Given the description of an element on the screen output the (x, y) to click on. 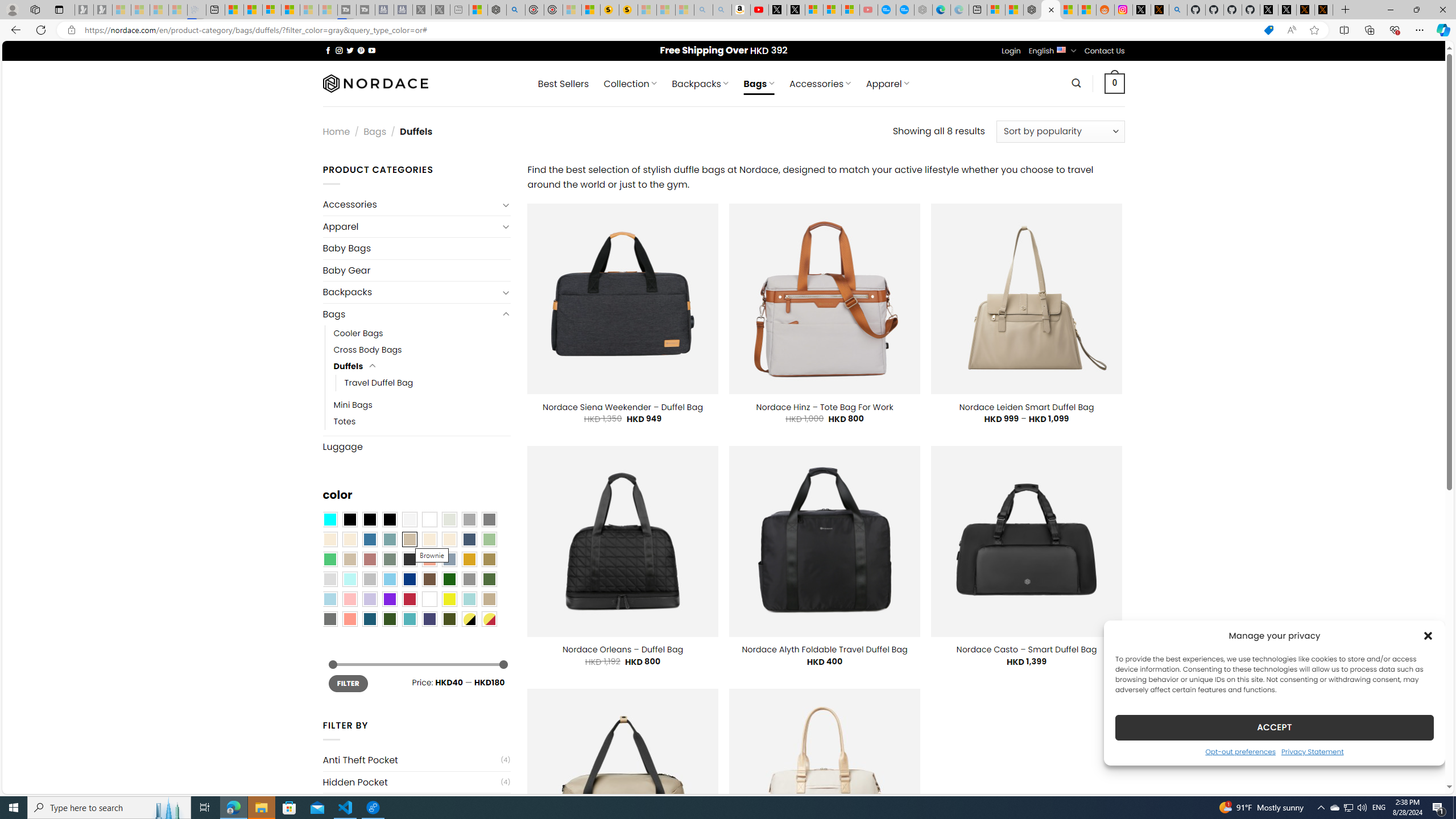
Laptop Sleeve (410, 804)
Backpacks (410, 292)
Nordace Leiden Smart Duffel Bag (1026, 406)
amazon - Search - Sleeping (702, 9)
Blue (369, 539)
Peach Pink (349, 618)
X - Sleeping (440, 9)
ACCEPT (1274, 727)
Yellow-Black (468, 618)
This site has coupons! Shopping in Microsoft Edge (1268, 29)
Dark Green (449, 579)
